Given the description of an element on the screen output the (x, y) to click on. 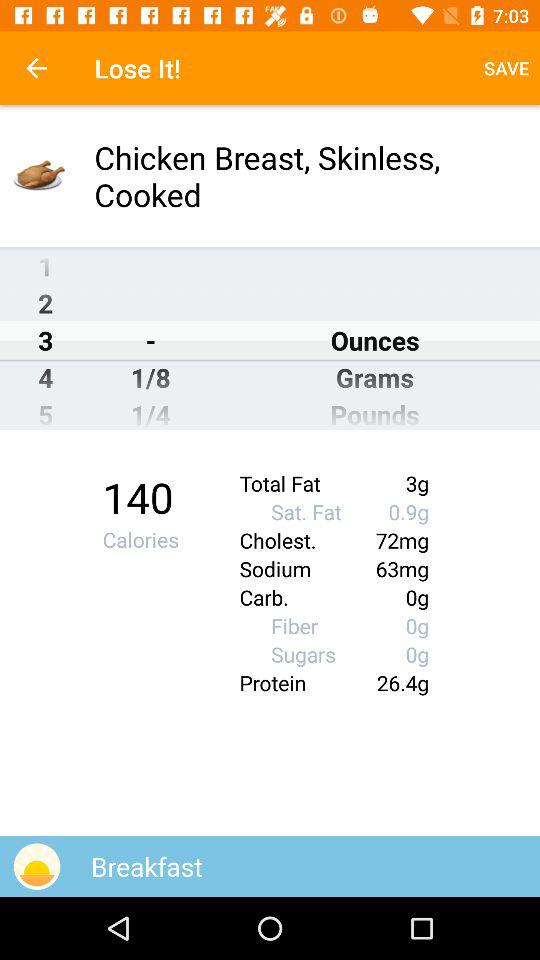
tap item to the right of lose it! icon (506, 67)
